Given the description of an element on the screen output the (x, y) to click on. 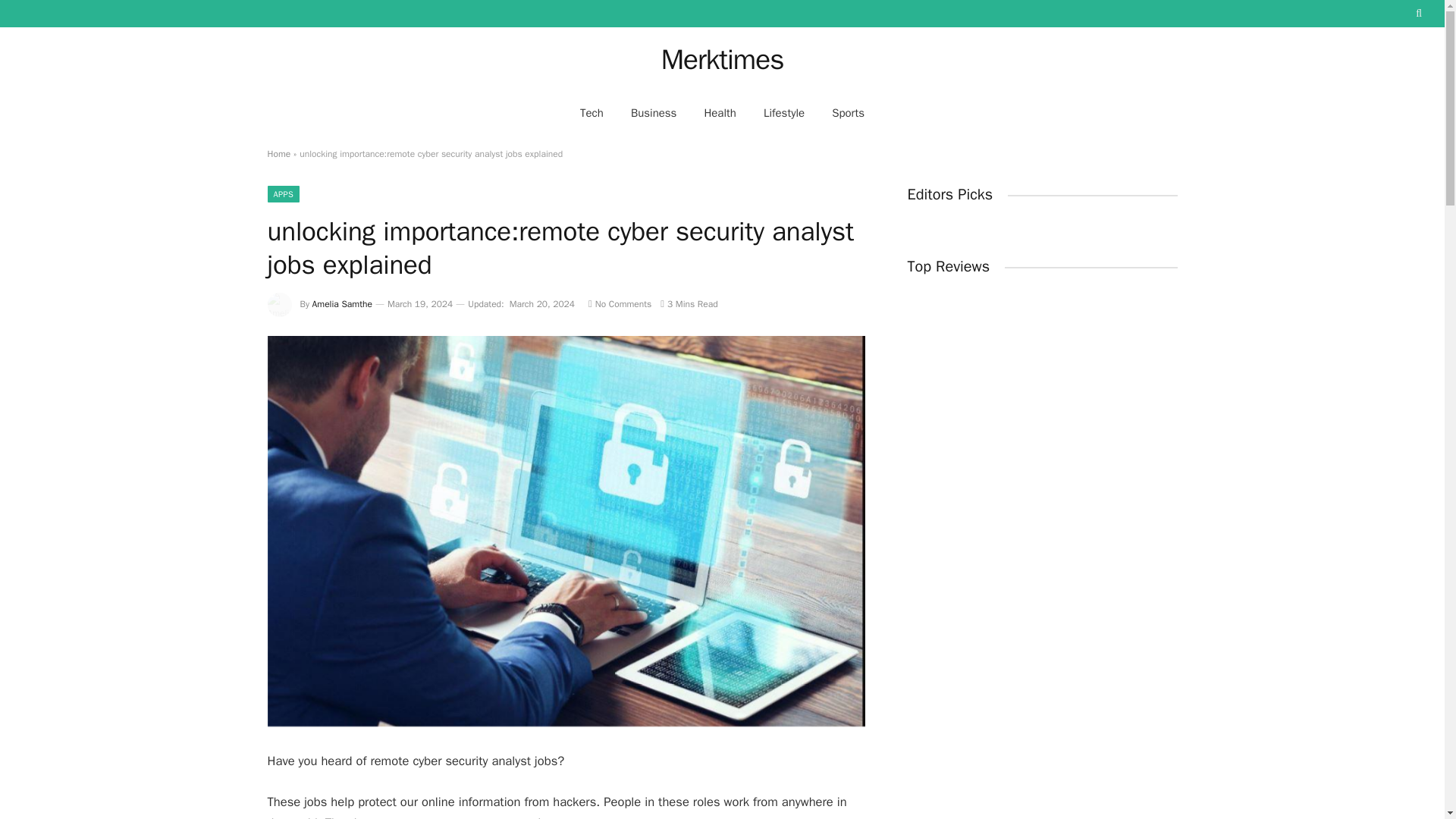
Sports (847, 112)
Amelia Samthe (342, 304)
Lifestyle (783, 112)
Tech (591, 112)
APPS (282, 193)
Home (277, 153)
Merktimes (722, 59)
merktimes (722, 59)
Posts by Amelia Samthe (342, 304)
Business (653, 112)
